Given the description of an element on the screen output the (x, y) to click on. 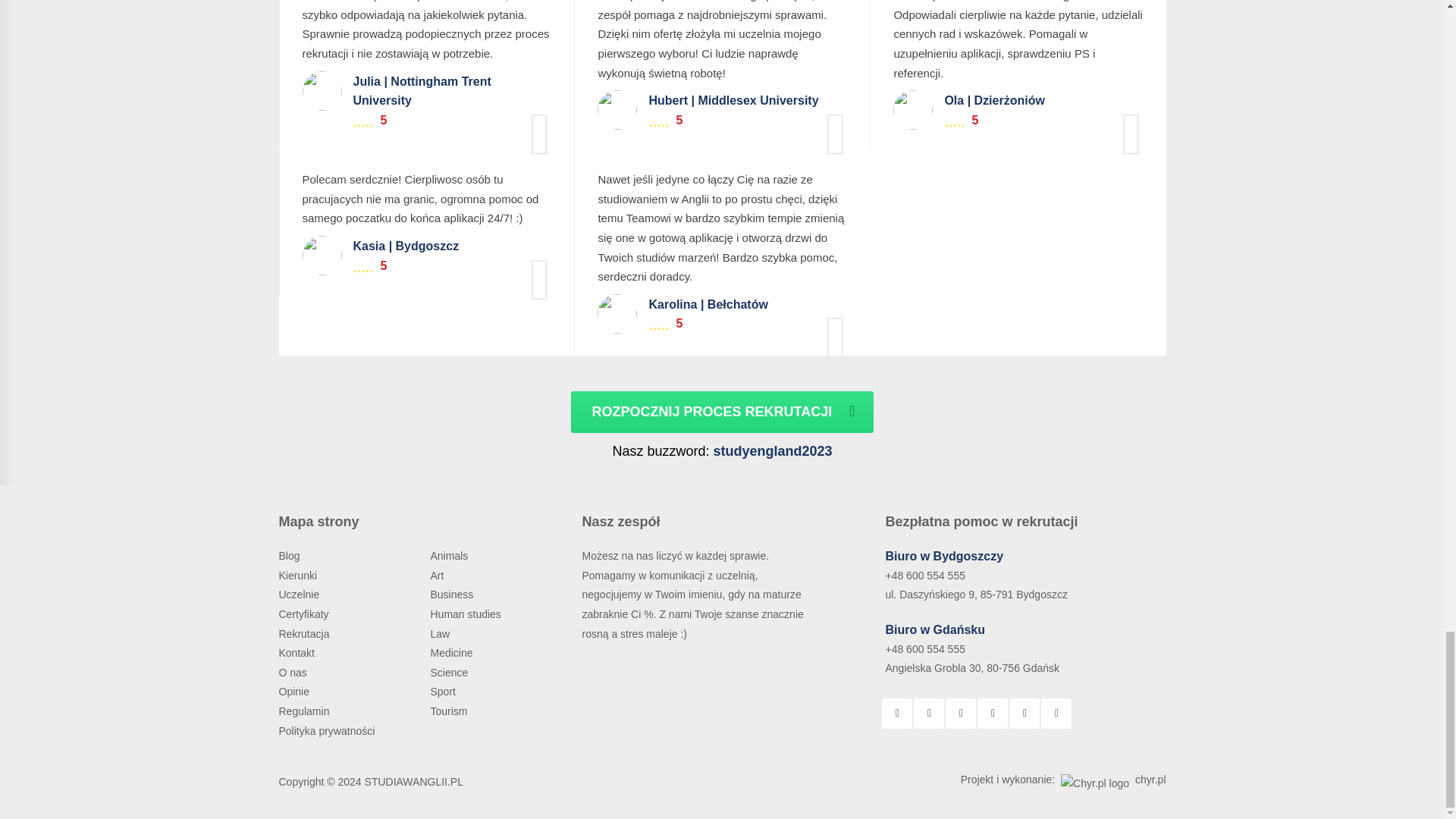
ROZPOCZNIJ PROCES REKRUTACJI (721, 412)
O nas (294, 672)
Art (437, 575)
Animals (449, 555)
Blog (290, 555)
Business (452, 594)
Rekrutacja (306, 633)
Opinie (296, 691)
Kierunki (299, 575)
Regulamin (306, 711)
